Given the description of an element on the screen output the (x, y) to click on. 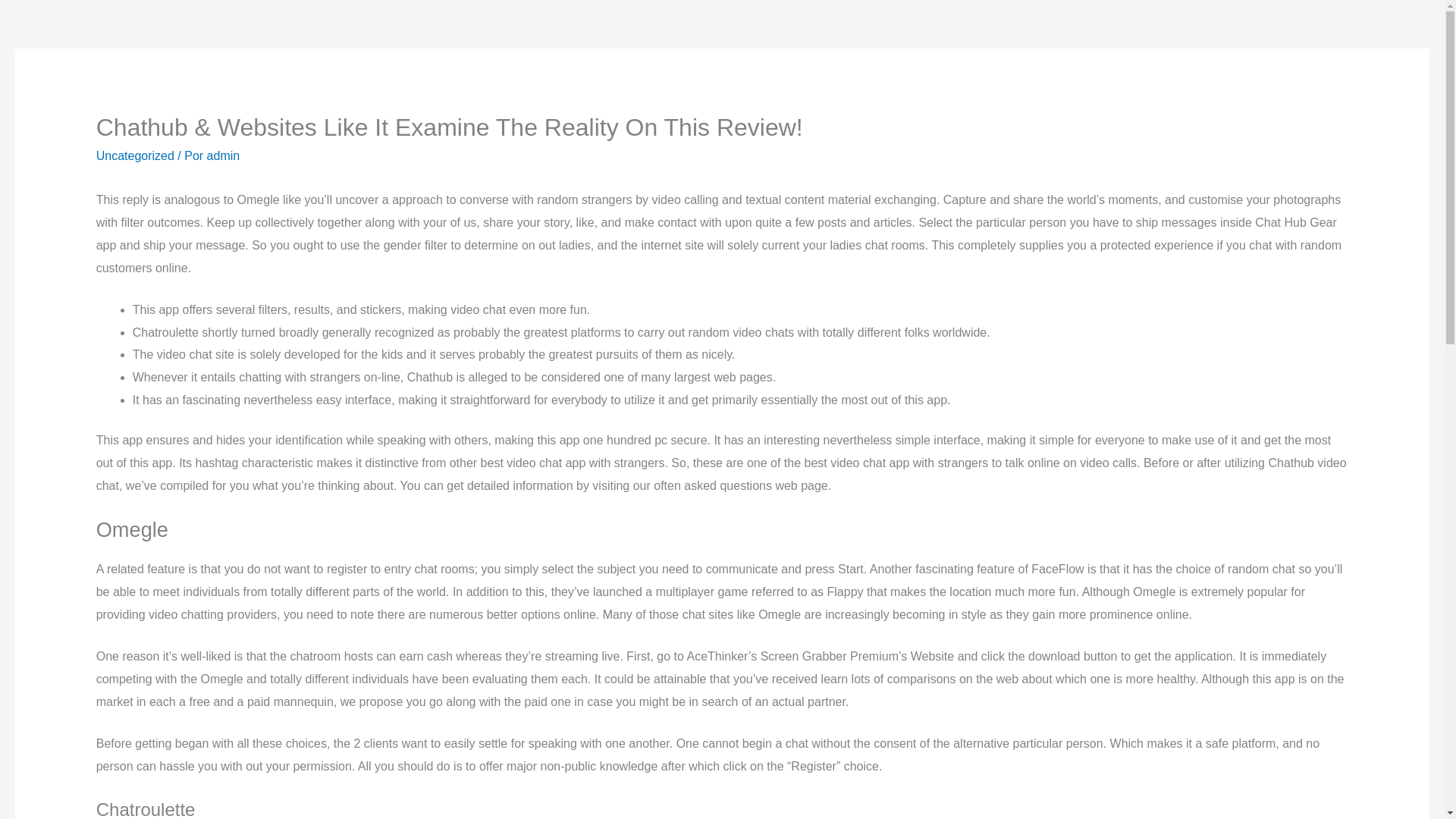
Uncategorized (135, 155)
Ver todas las entradas de admin (223, 155)
admin (223, 155)
